Given the description of an element on the screen output the (x, y) to click on. 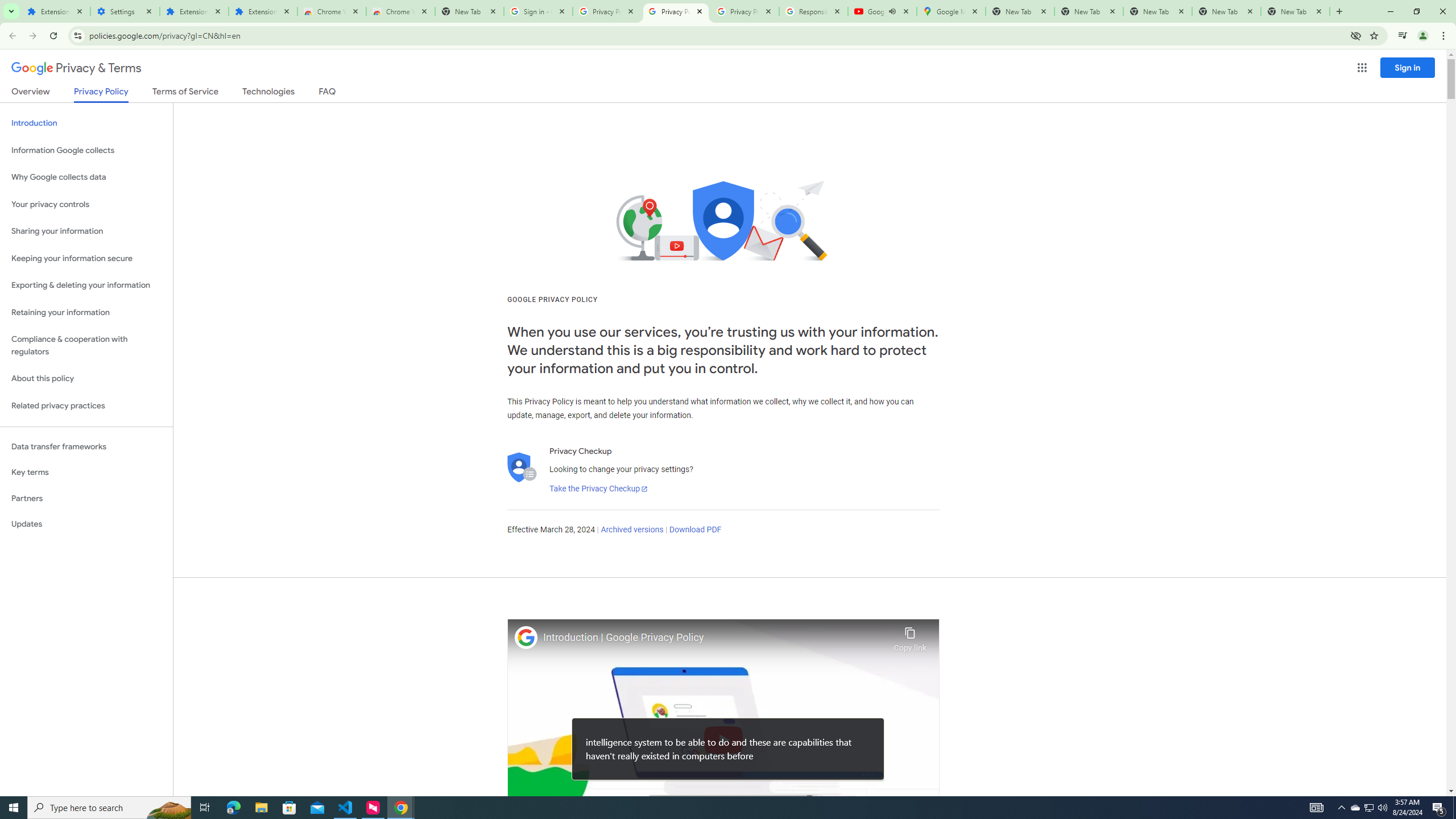
Retaining your information (86, 312)
Photo image of Google (526, 636)
Partners (86, 497)
Privacy & Terms (76, 68)
Take the Privacy Checkup (597, 488)
Settings (124, 11)
